Given the description of an element on the screen output the (x, y) to click on. 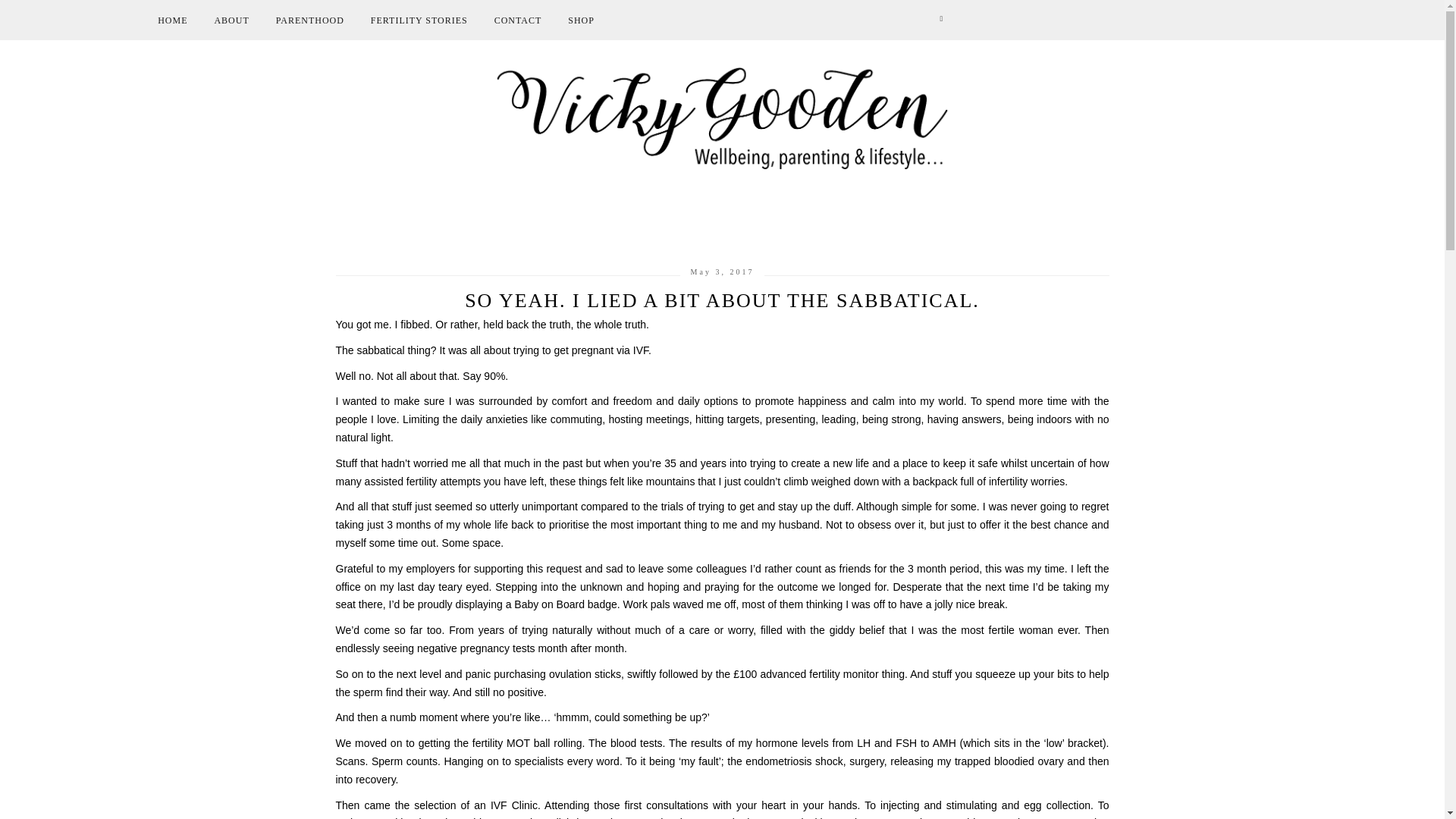
FERTILITY STORIES (419, 21)
CONTACT (518, 21)
ABOUT (231, 21)
PARENTHOOD (309, 21)
SO YEAH. I LIED A BIT ABOUT THE SABBATICAL. (721, 300)
HOME (172, 21)
